Given the description of an element on the screen output the (x, y) to click on. 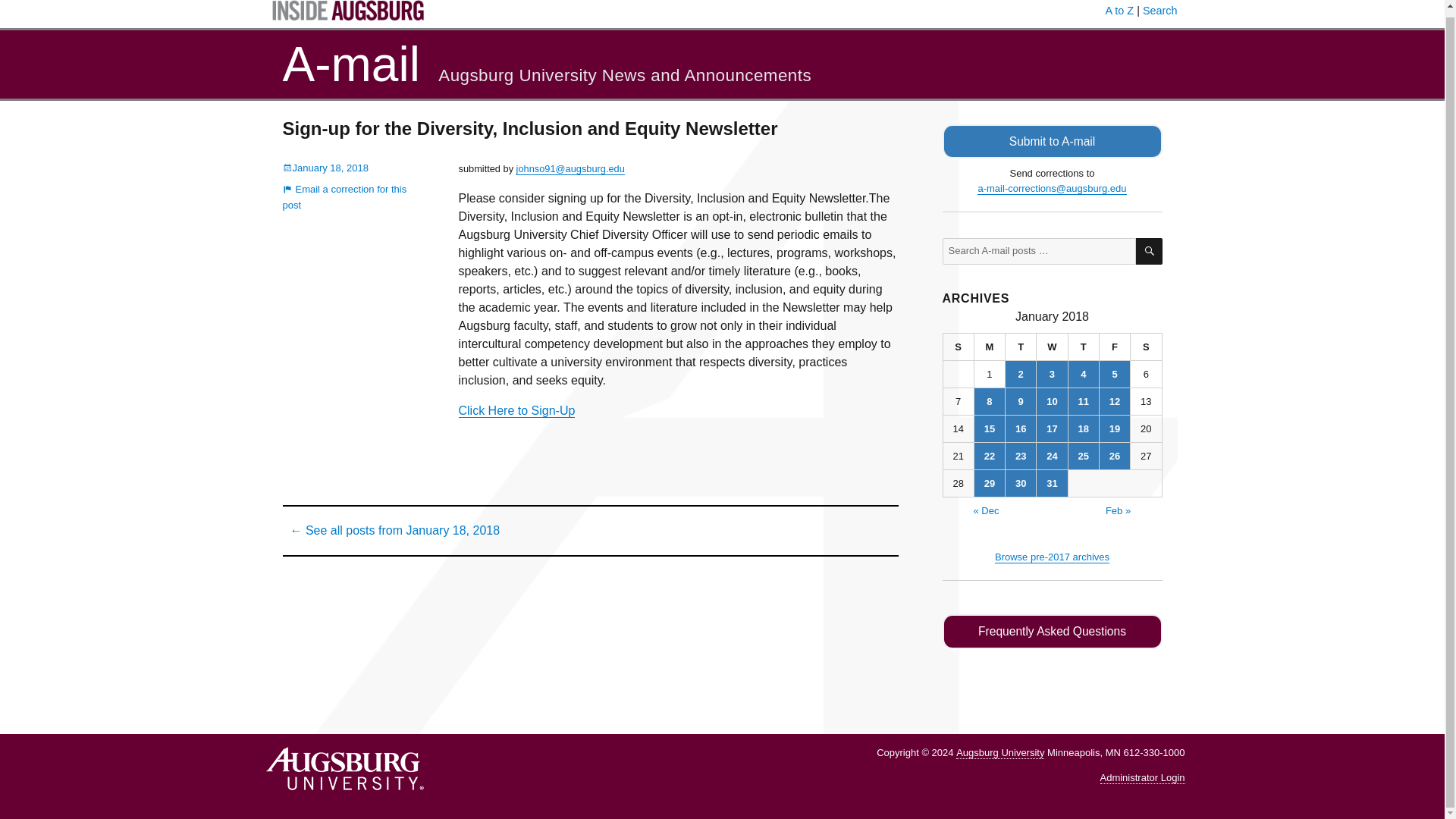
A-mail (350, 63)
Thursday (1083, 347)
19 (1114, 428)
17 (1051, 428)
29 (989, 483)
A to Z (1119, 10)
5 (1114, 374)
26 (1114, 456)
23 (1020, 456)
11 (1083, 401)
9 (1020, 401)
16 (1020, 428)
Browse pre-2017 archives (1051, 556)
4 (1083, 374)
